Given the description of an element on the screen output the (x, y) to click on. 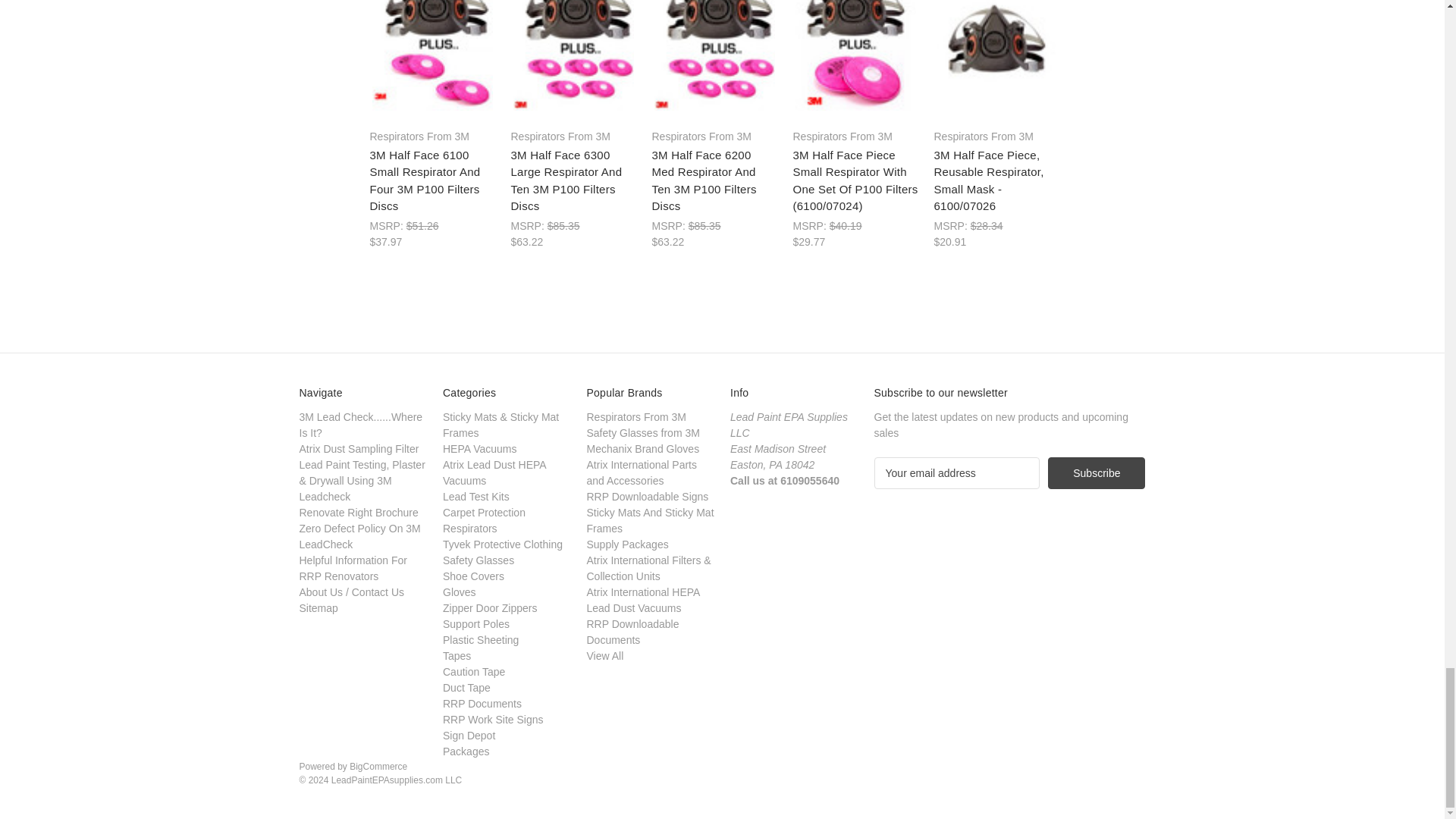
Subscribe (1096, 472)
